Given the description of an element on the screen output the (x, y) to click on. 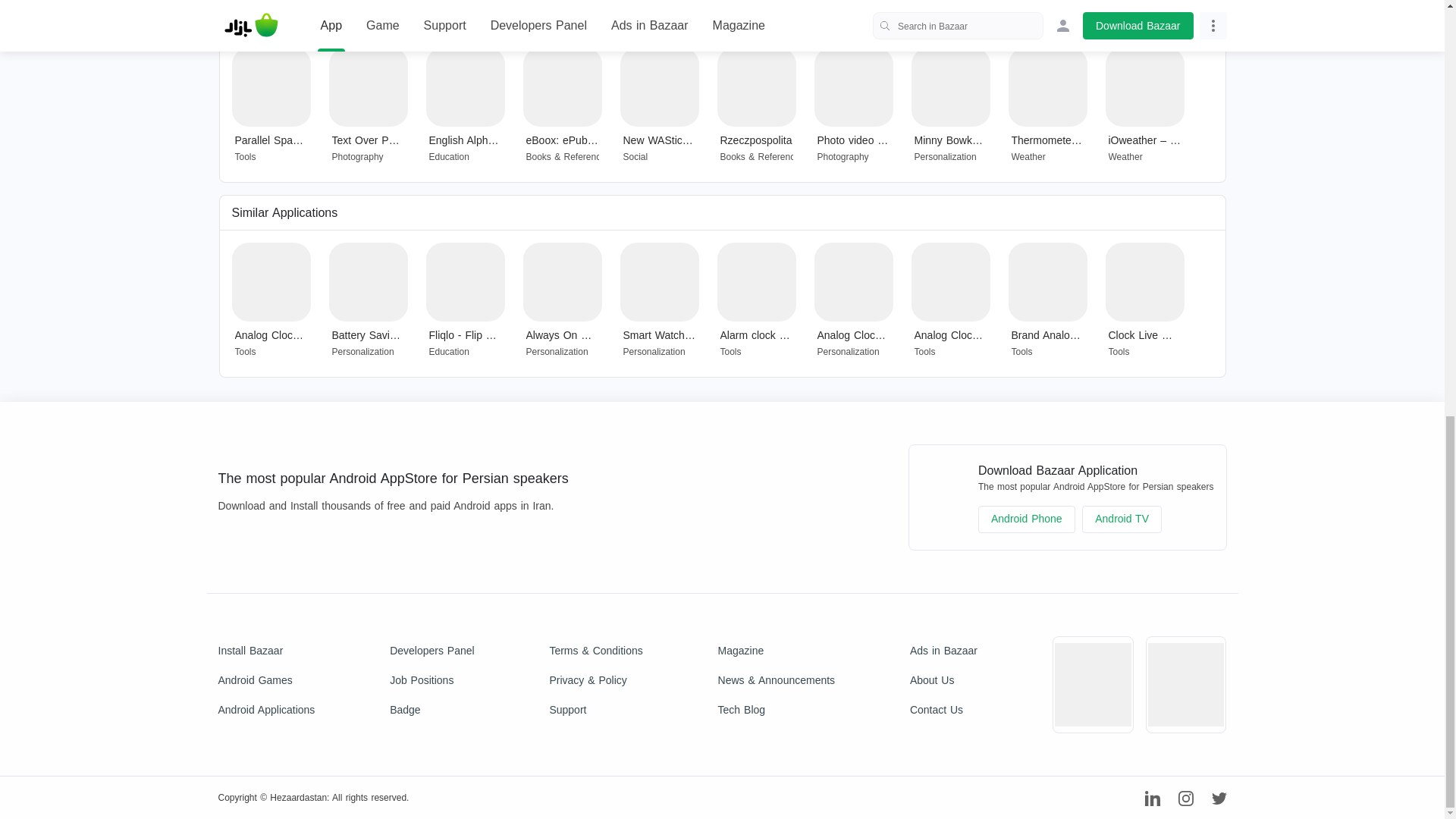
Install Bazaar (266, 650)
Android Games (266, 680)
